Given the description of an element on the screen output the (x, y) to click on. 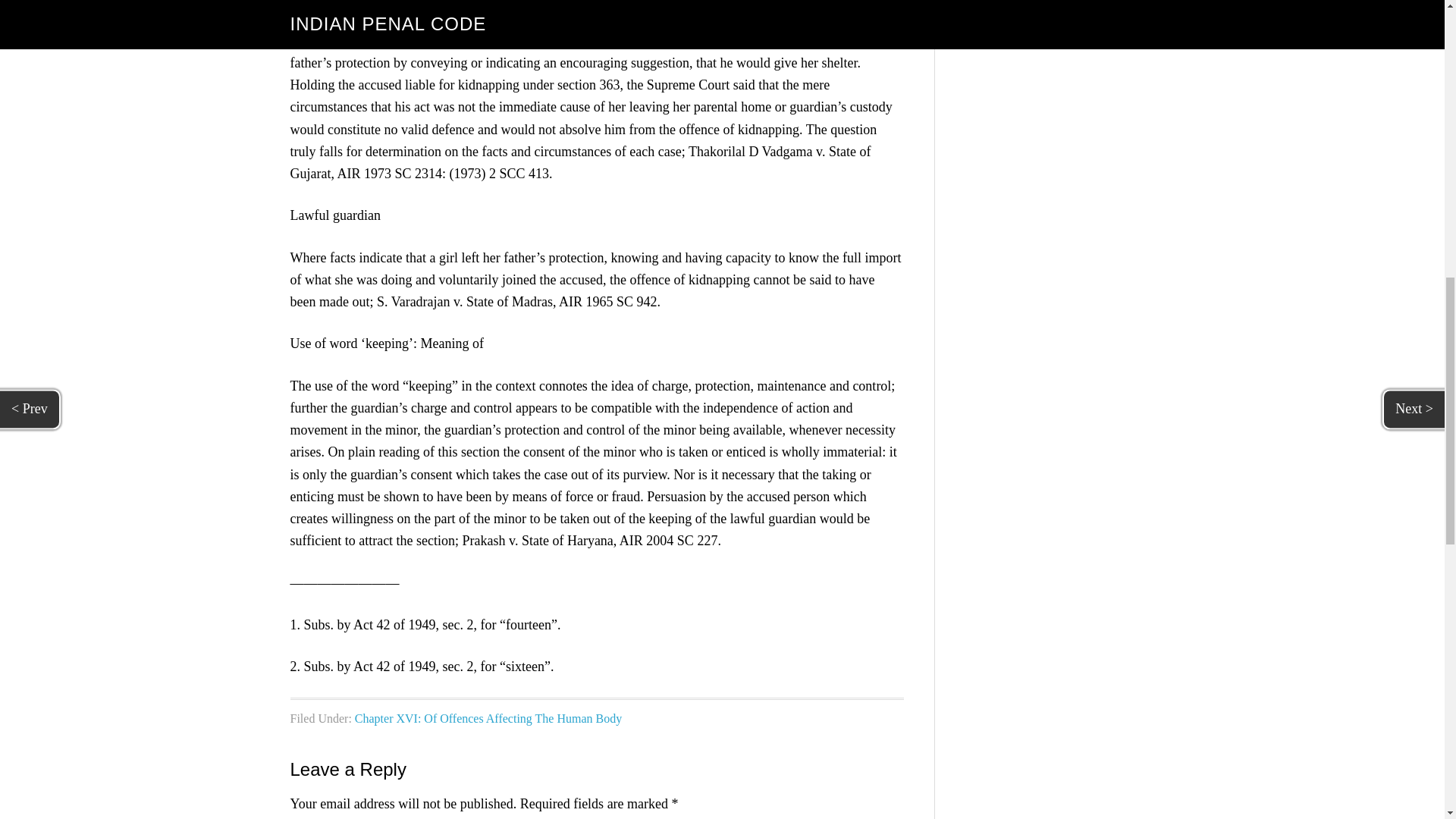
Chapter XVI: Of Offences Affecting The Human Body (488, 717)
